Given the description of an element on the screen output the (x, y) to click on. 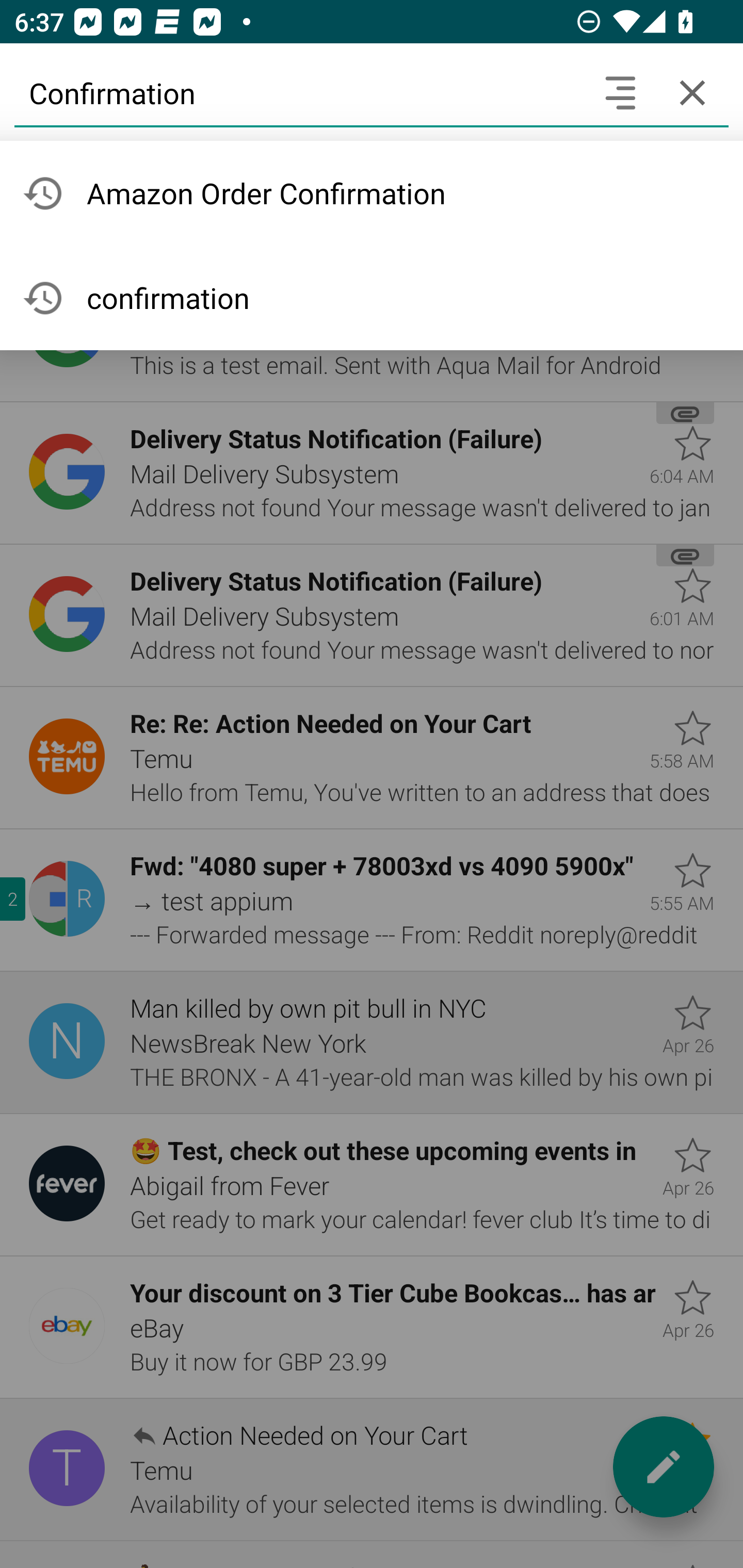
Confirmation (298, 92)
Search headers and text (619, 92)
Cancel (692, 92)
